Given the description of an element on the screen output the (x, y) to click on. 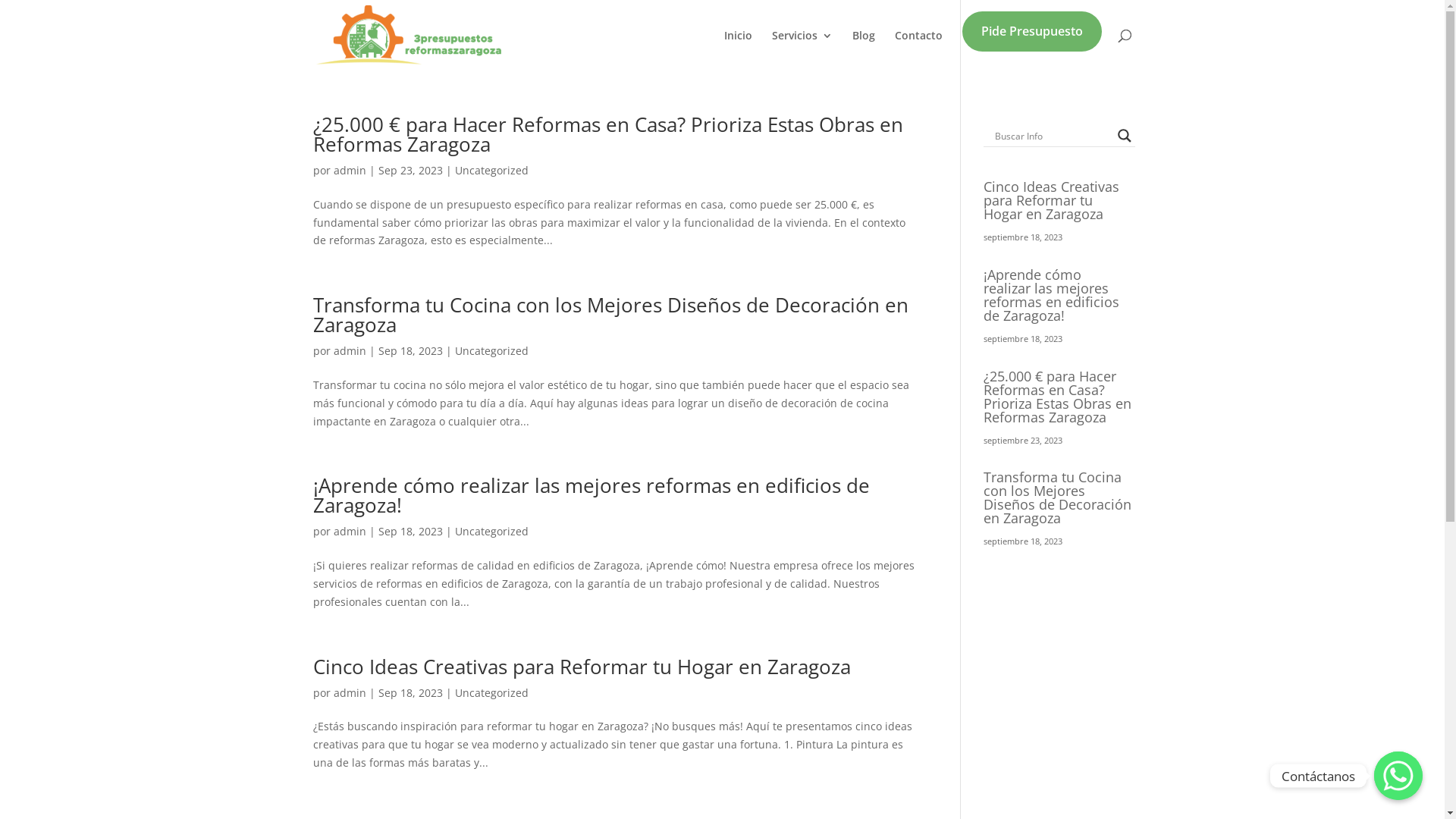
Cinco Ideas Creativas para Reformar tu Hogar en Zaragoza Element type: text (581, 666)
Servicios Element type: text (801, 50)
septiembre 18, 2023 Element type: text (1022, 236)
admin Element type: text (349, 692)
Contacto Element type: text (918, 50)
Pide Presupuesto Element type: text (1031, 45)
Uncategorized Element type: text (491, 531)
admin Element type: text (349, 350)
septiembre 18, 2023 Element type: text (1022, 540)
septiembre 18, 2023 Element type: text (1022, 338)
Inicio Element type: text (737, 50)
Uncategorized Element type: text (491, 170)
Uncategorized Element type: text (491, 350)
Cinco Ideas Creativas para Reformar tu Hogar en Zaragoza Element type: text (1051, 199)
Blog Element type: text (863, 50)
admin Element type: text (349, 531)
Uncategorized Element type: text (491, 692)
admin Element type: text (349, 170)
septiembre 23, 2023 Element type: text (1022, 439)
